Given the description of an element on the screen output the (x, y) to click on. 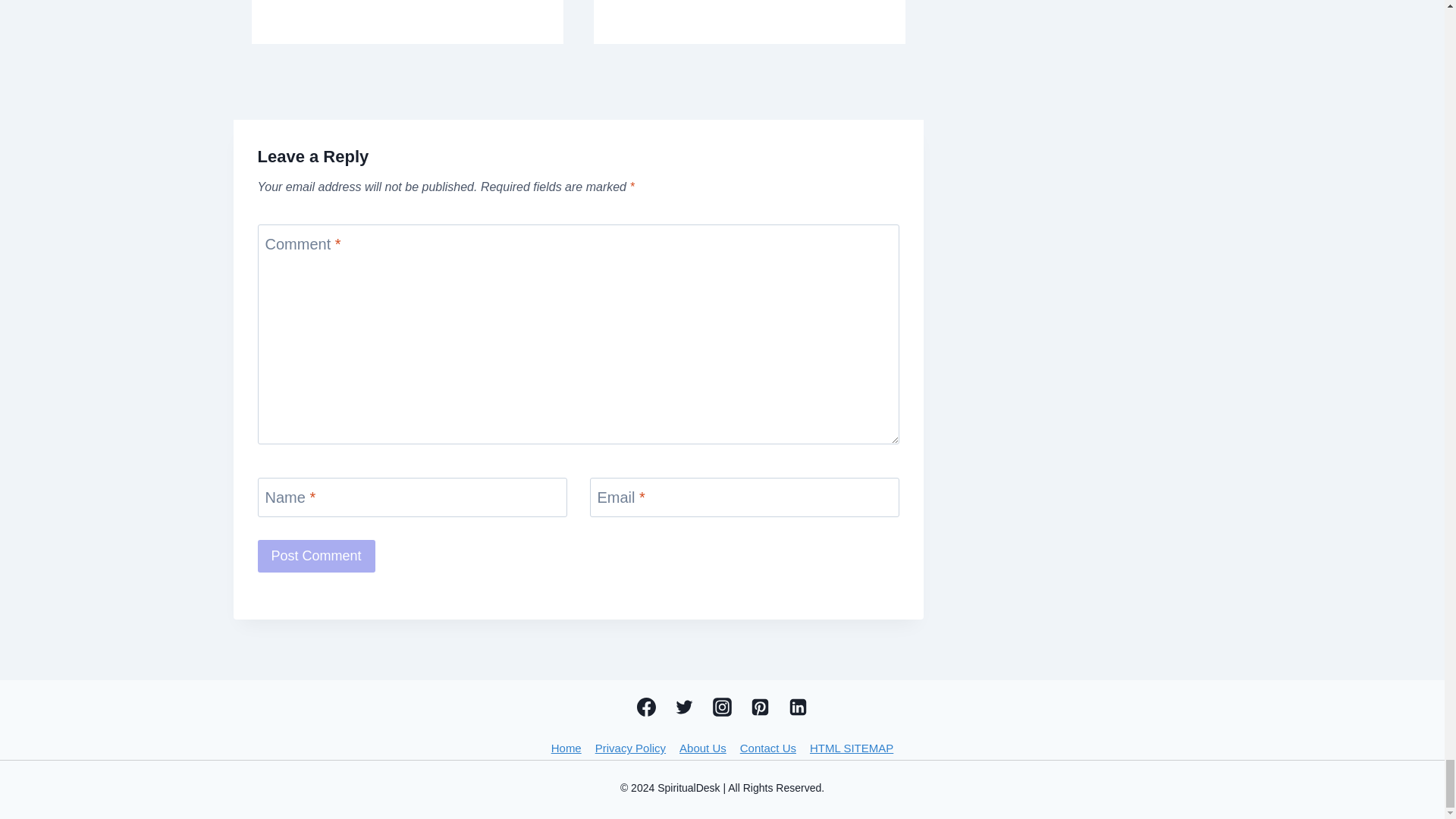
Post Comment (316, 555)
